Given the description of an element on the screen output the (x, y) to click on. 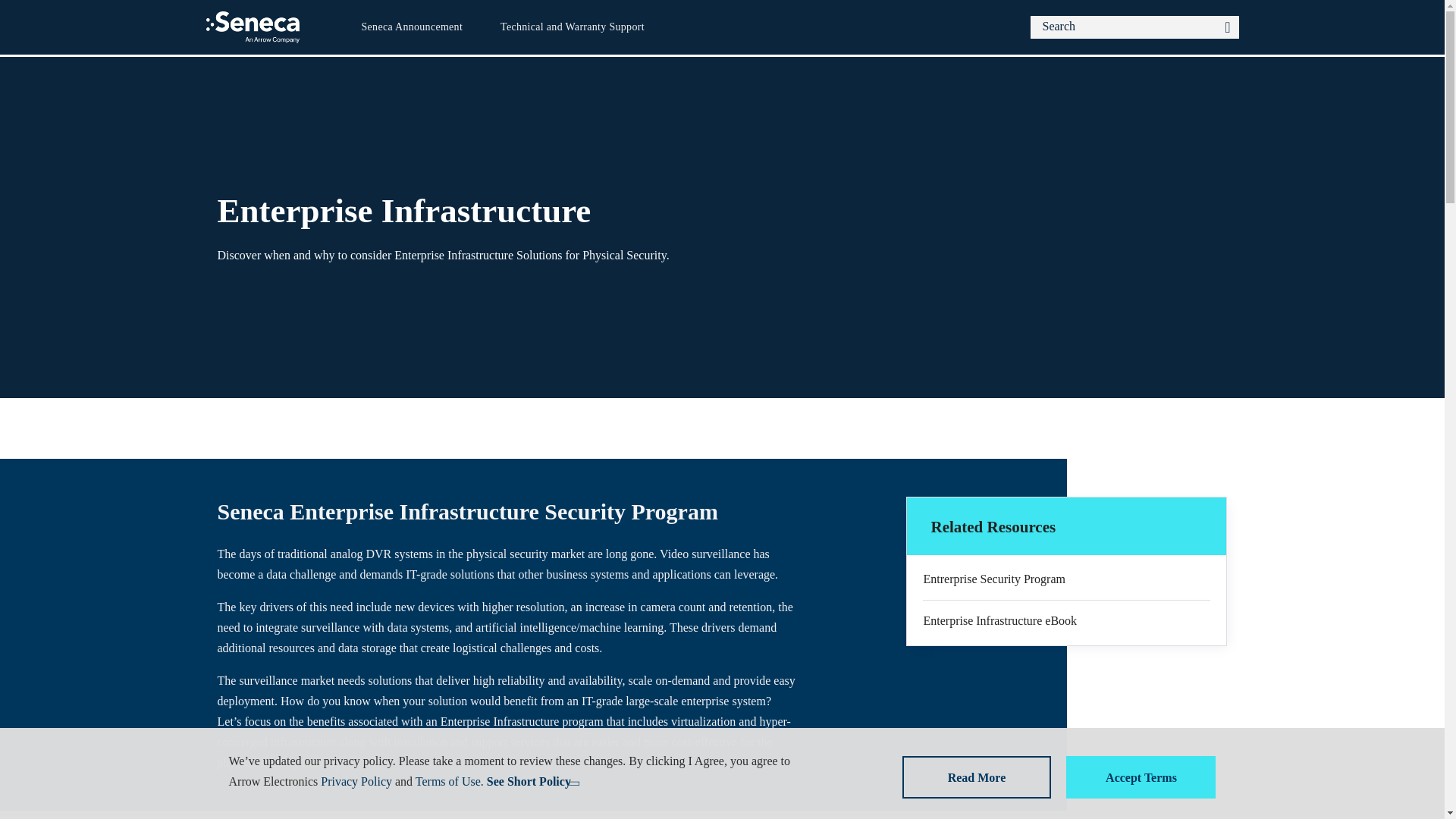
Technical and Warranty Support (571, 27)
Privacy Policy (355, 780)
Read More (976, 776)
Accept Terms (1140, 776)
Seneca (252, 27)
Terms of Use (447, 780)
Privacy Policy (355, 780)
Enterprise Infrastructure eBook (1066, 620)
Search (1227, 26)
See Short Policy (531, 781)
Entrerprise Security Program (1066, 579)
Terms of Use (447, 780)
Seneca Announcement (411, 27)
